Given the description of an element on the screen output the (x, y) to click on. 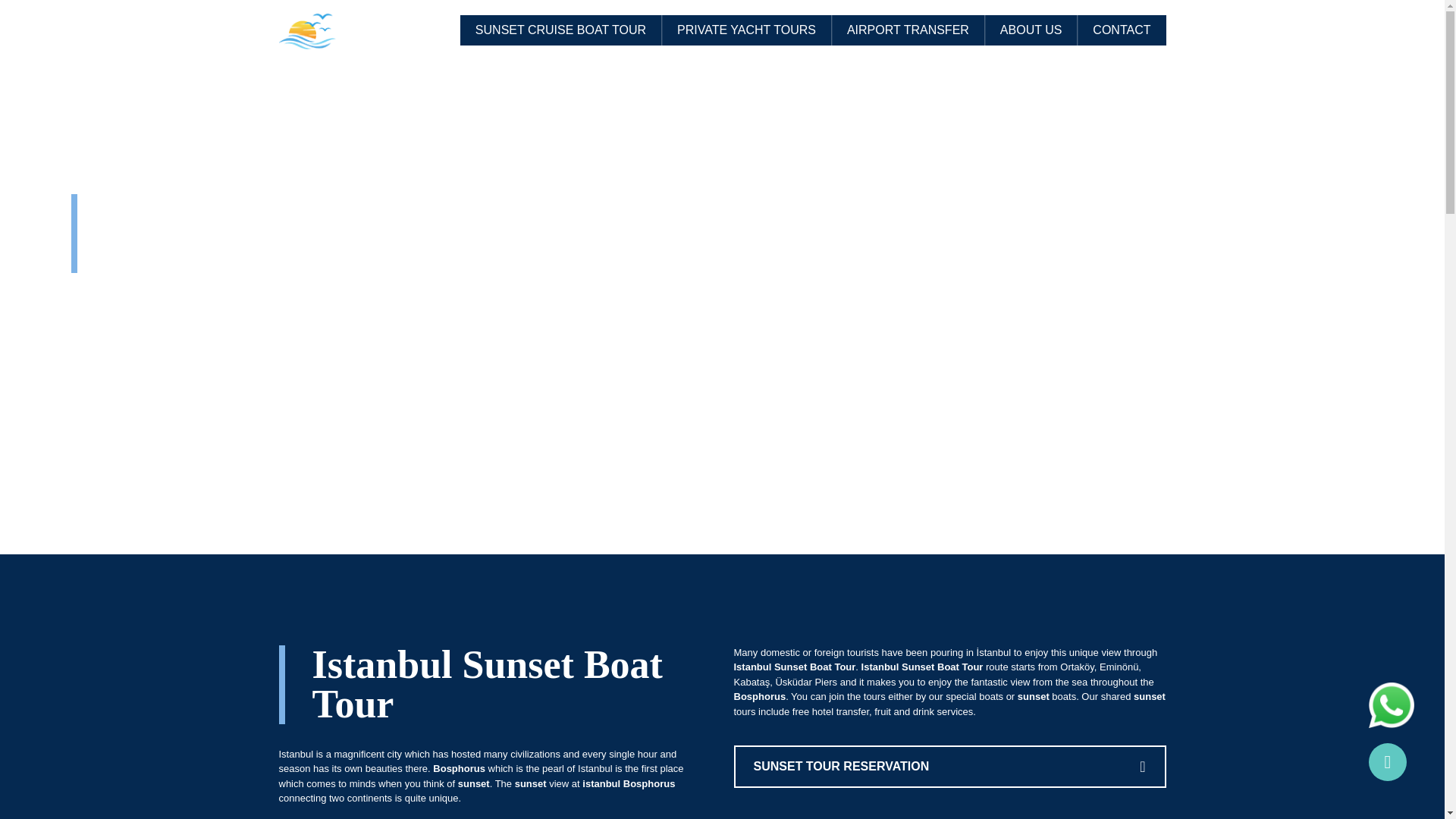
AIRPORT TRANSFER (907, 30)
CONTACT (1121, 30)
SUNSET CRUISE BOAT TOUR (560, 30)
SUNSET TOUR RESERVATION (949, 766)
Istanbul Sunset Boat Tour (487, 683)
ABOUT US (1031, 30)
PRIVATE YACHT TOURS (746, 30)
